Given the description of an element on the screen output the (x, y) to click on. 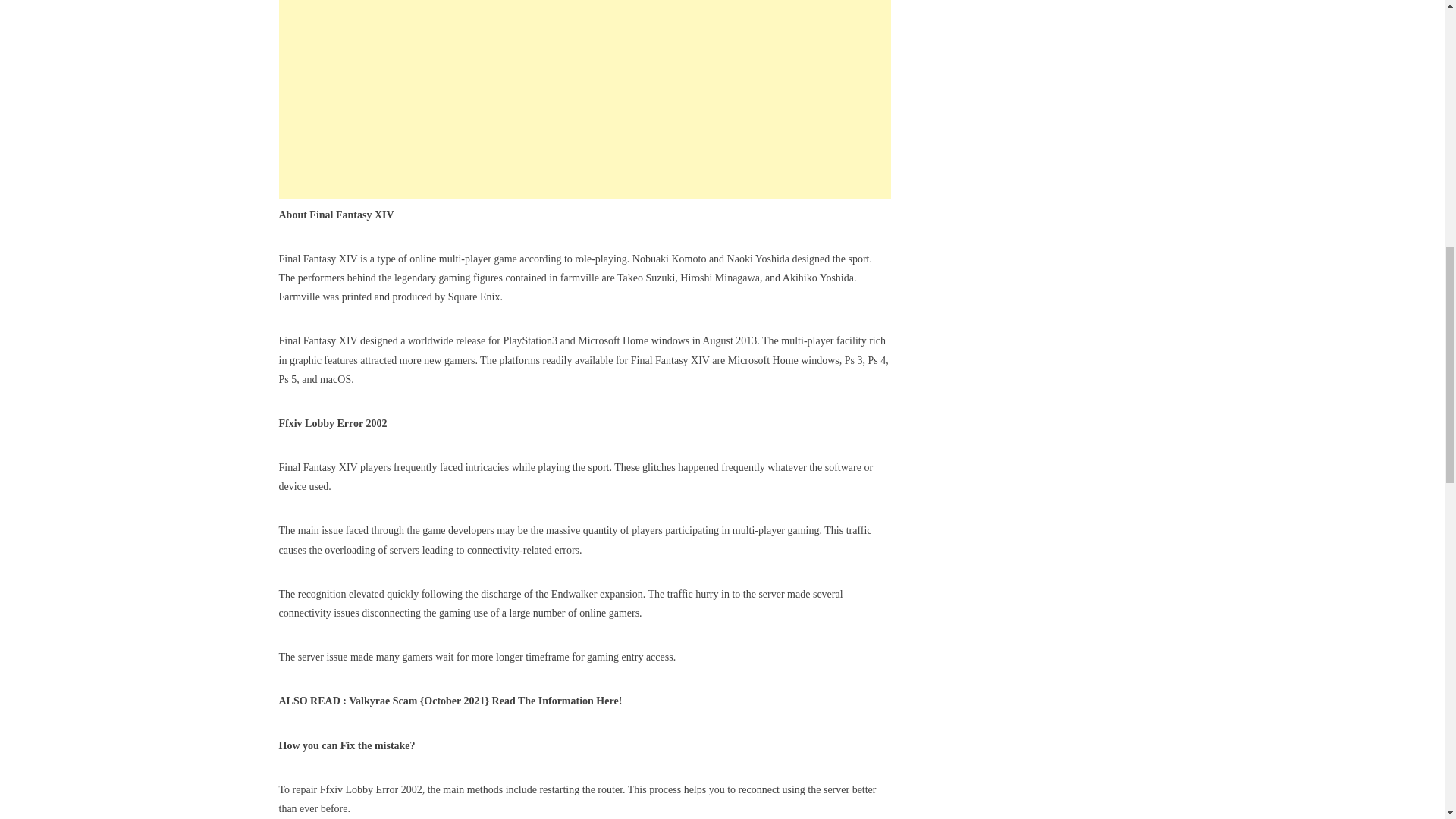
Advertisement (585, 99)
